Given the description of an element on the screen output the (x, y) to click on. 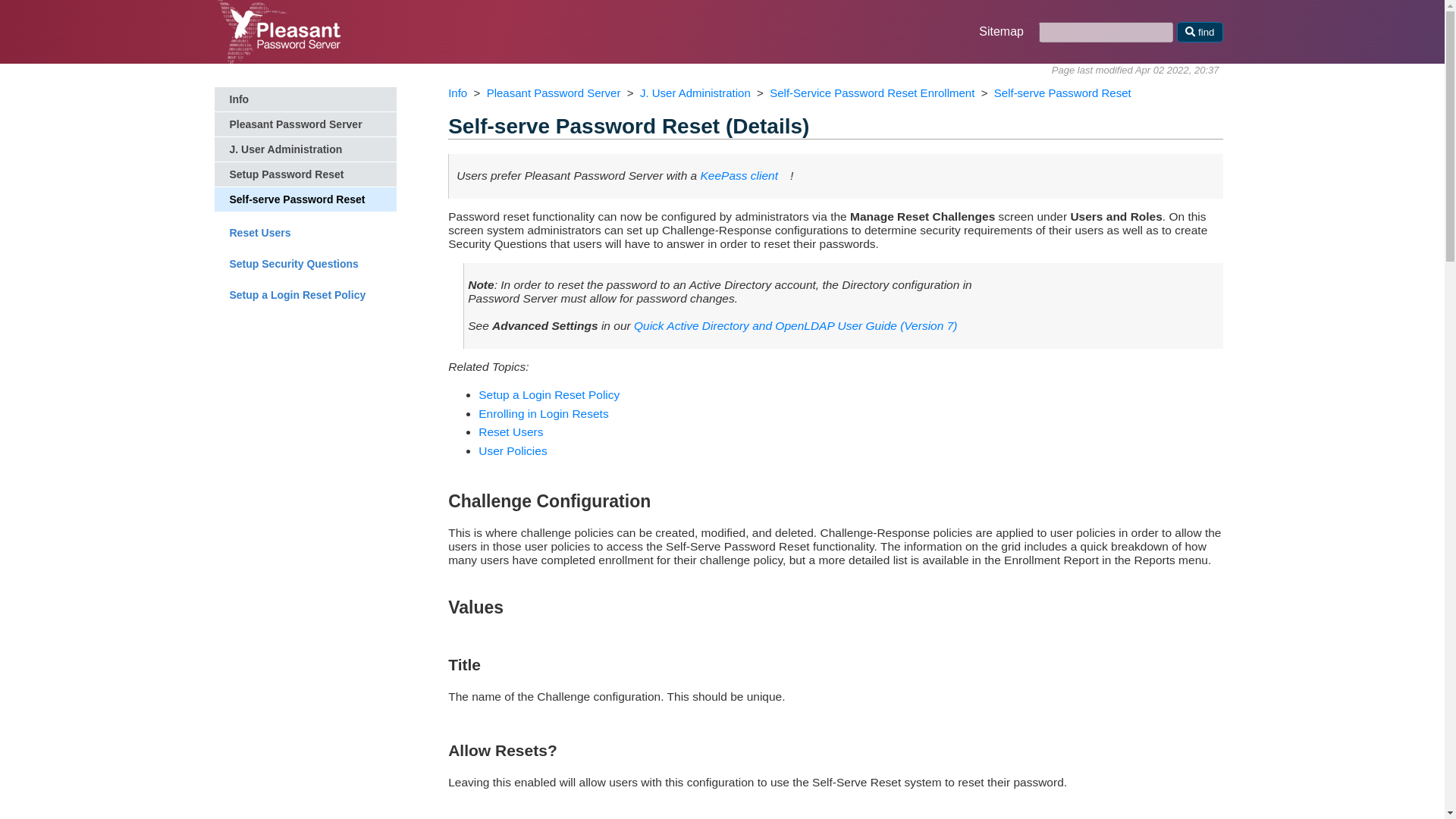
Setup a Login Reset Policy (549, 394)
J. User Administration (695, 92)
Self-serve Password Reset (305, 199)
User Policies (513, 450)
Info (305, 98)
Self-Service Password Reset Enrollment (543, 413)
User Policies (513, 450)
Reset Users (511, 431)
J. User Administration (305, 149)
Reset Users (305, 232)
